Given the description of an element on the screen output the (x, y) to click on. 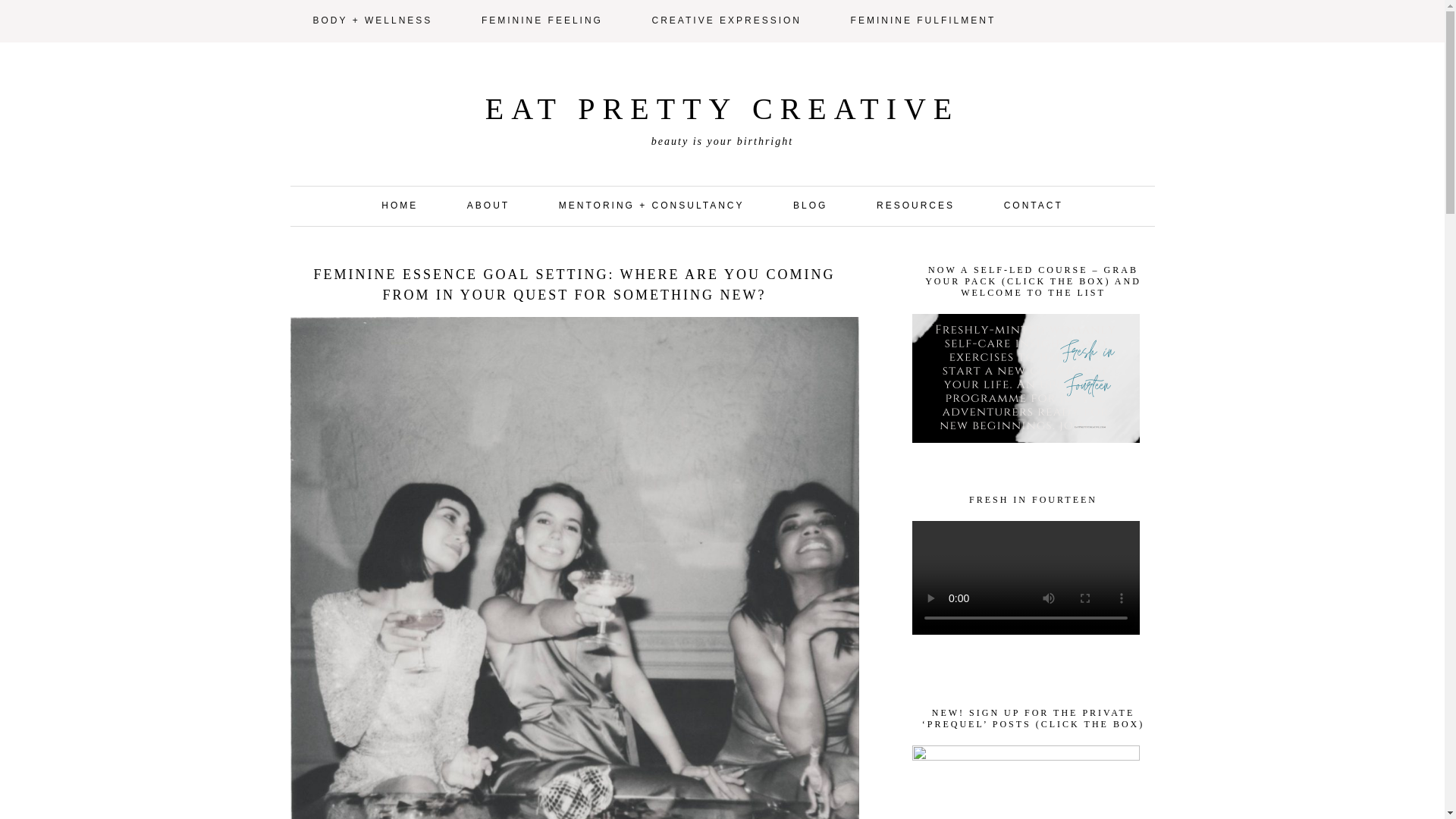
FEMININE FEELING (542, 21)
FEMININE FULFILMENT (923, 21)
EAT PRETTY CREATIVE (721, 108)
BLOG (810, 206)
RESOURCES (914, 206)
HOME (399, 206)
CONTACT (1033, 206)
CREATIVE EXPRESSION (726, 21)
ABOUT (488, 206)
